Given the description of an element on the screen output the (x, y) to click on. 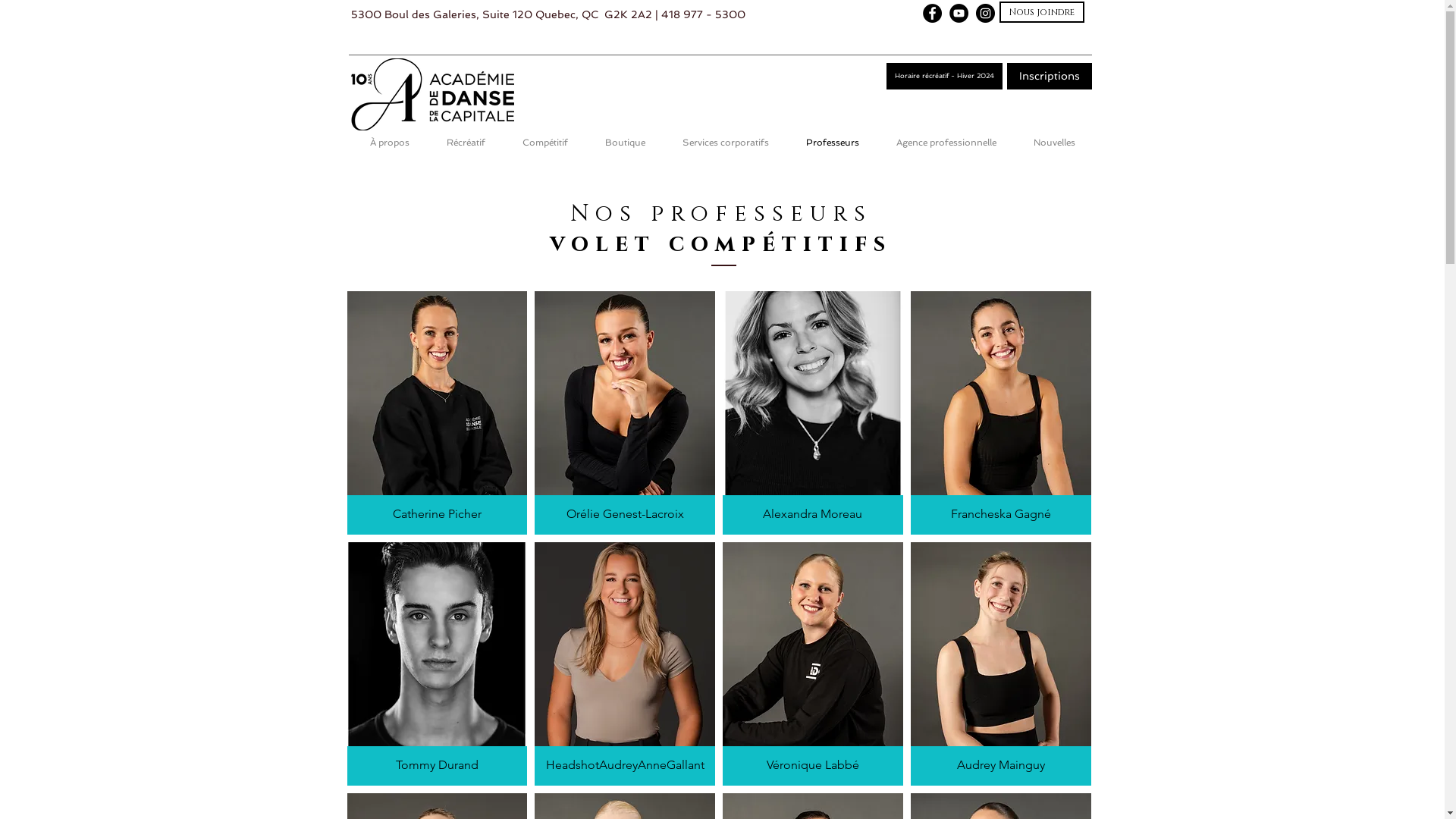
Inscriptions Element type: text (1049, 75)
Nouvelles Element type: text (1053, 142)
Professeurs Element type: text (832, 142)
Agence professionnelle Element type: text (946, 142)
Services corporatifs Element type: text (725, 142)
Nous joindre Element type: text (1041, 11)
Boutique Element type: text (625, 142)
